Given the description of an element on the screen output the (x, y) to click on. 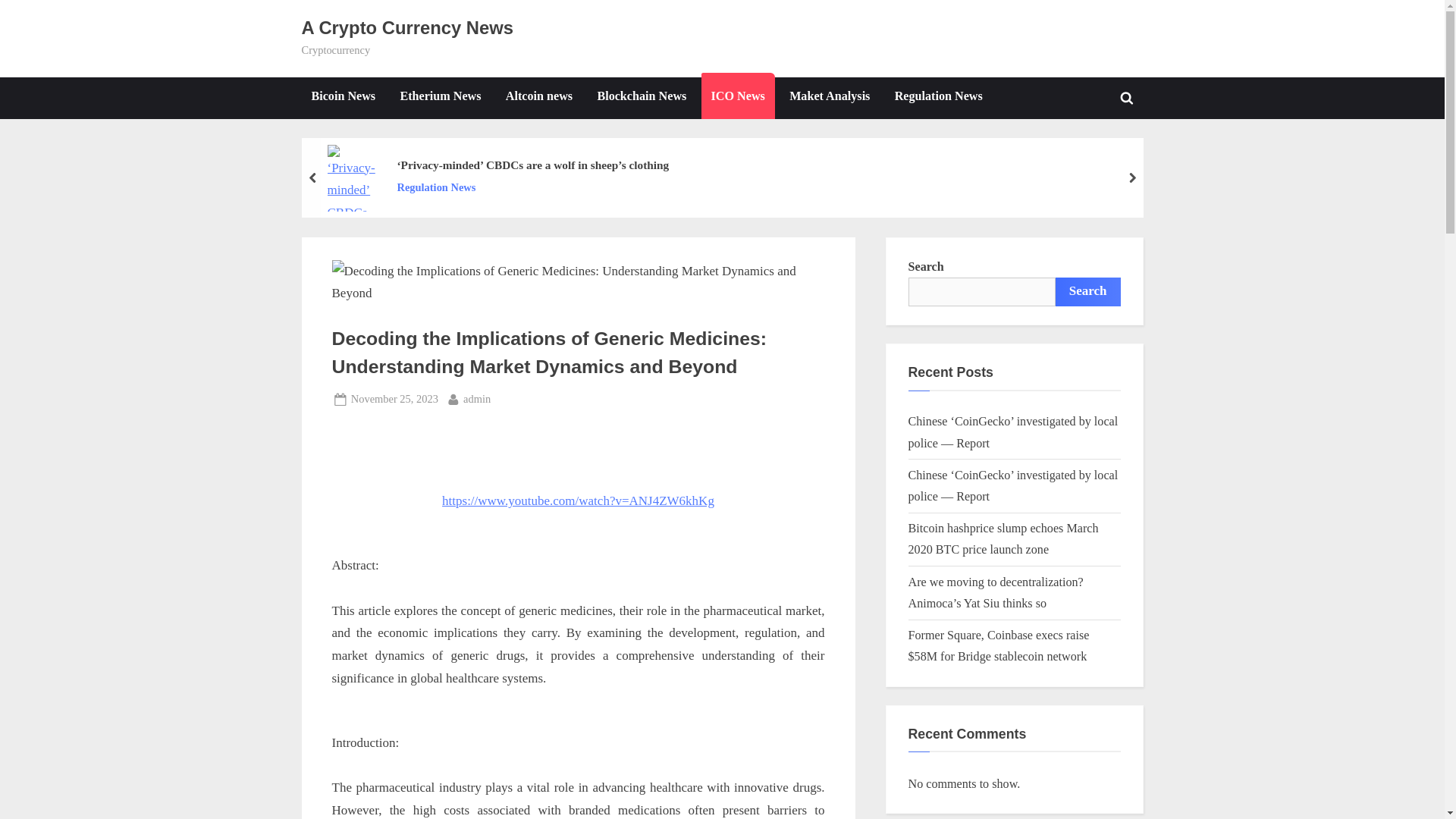
A Crypto Currency News (407, 27)
ICO News (737, 97)
Etherium News (440, 97)
Regulation News (532, 187)
Toggle search form (1126, 97)
Regulation News (938, 97)
Maket Analysis (394, 398)
Blockchain News (828, 97)
Bicoin News (640, 97)
